Given the description of an element on the screen output the (x, y) to click on. 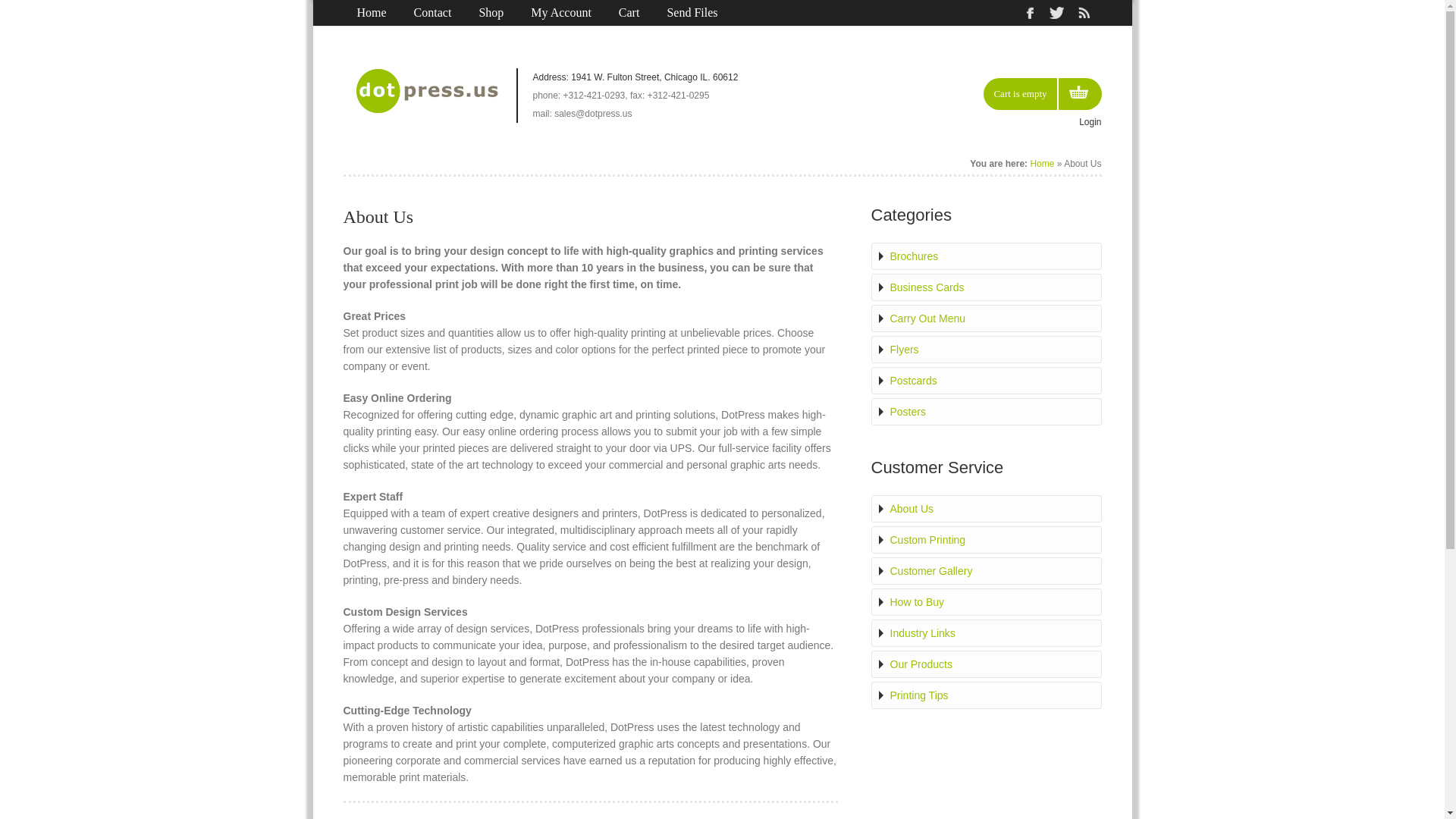
Custom Printing (985, 539)
My Account (560, 13)
Facebook (1029, 12)
Posters (985, 411)
Get the lastest news. (1083, 12)
Business Cards (985, 287)
Postcards (985, 380)
Industry Links (985, 632)
Follow us on Twitter (1055, 12)
Flyers (985, 349)
Contact (432, 13)
Customer Gallery (985, 570)
Printing Tips (985, 694)
Shop (490, 13)
Home (1041, 163)
